Given the description of an element on the screen output the (x, y) to click on. 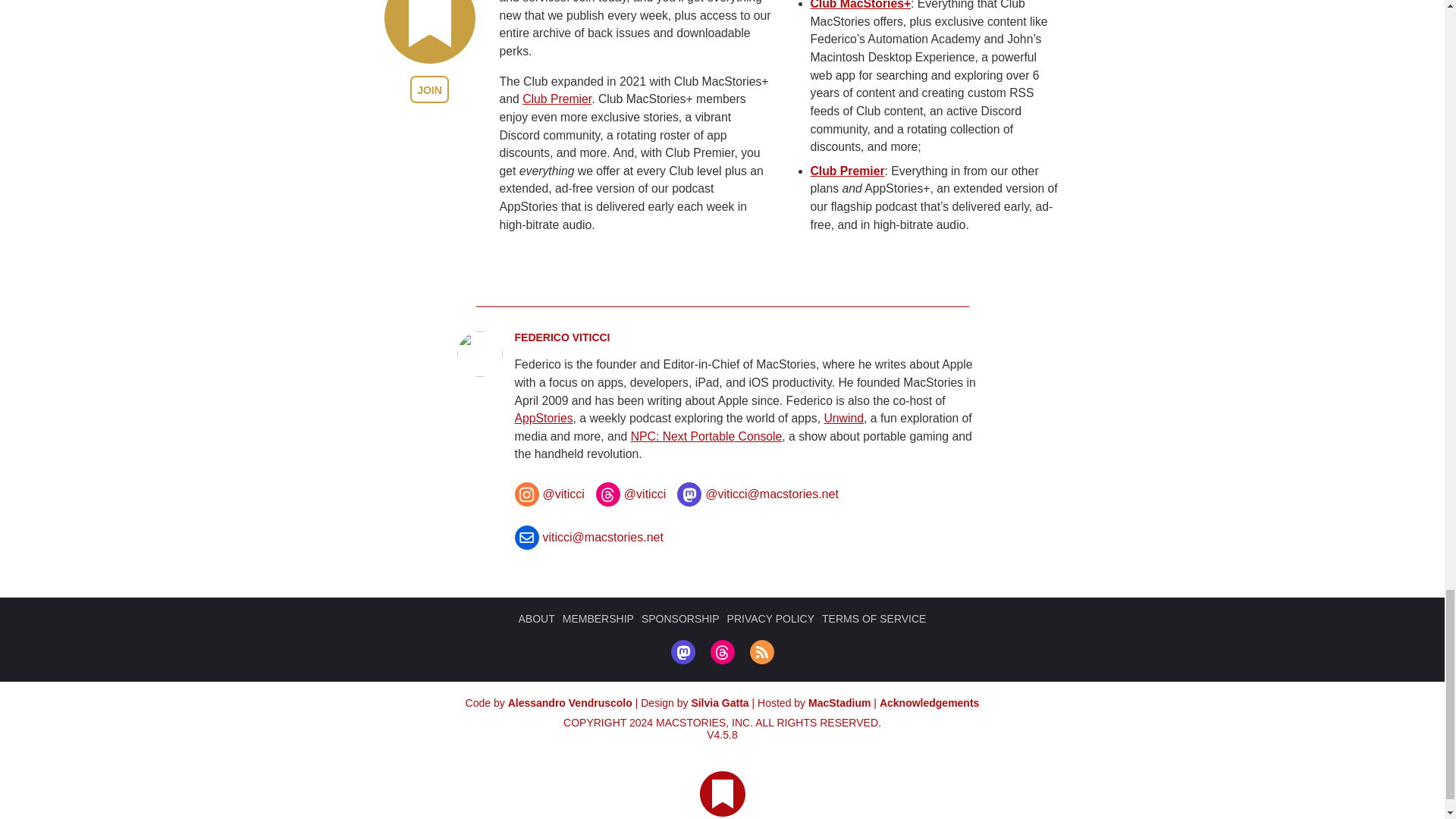
JOIN (429, 89)
Posts by Federico Viticci (561, 337)
Club Premier (556, 98)
